Given the description of an element on the screen output the (x, y) to click on. 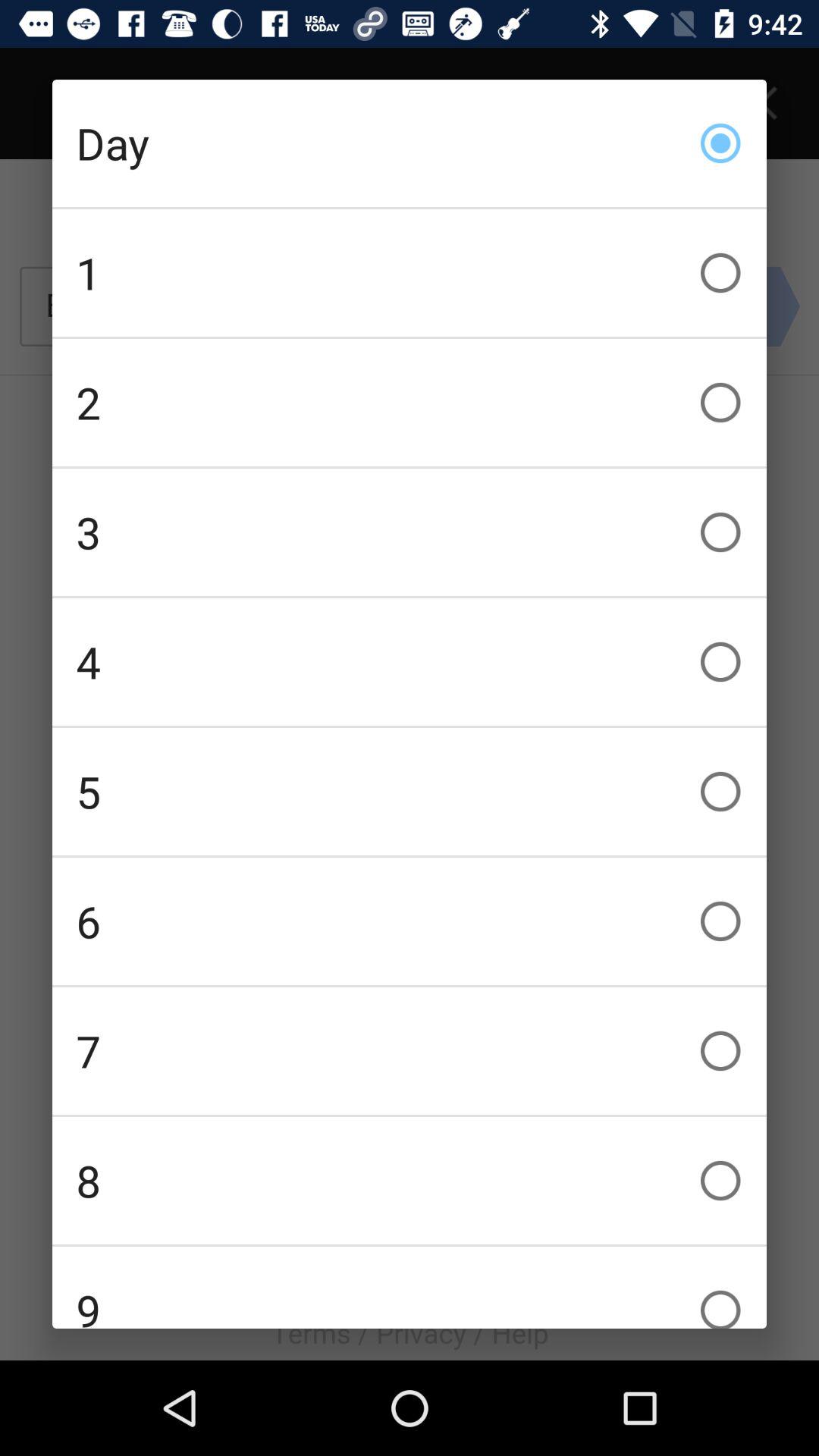
press icon below the 6 icon (409, 1050)
